Given the description of an element on the screen output the (x, y) to click on. 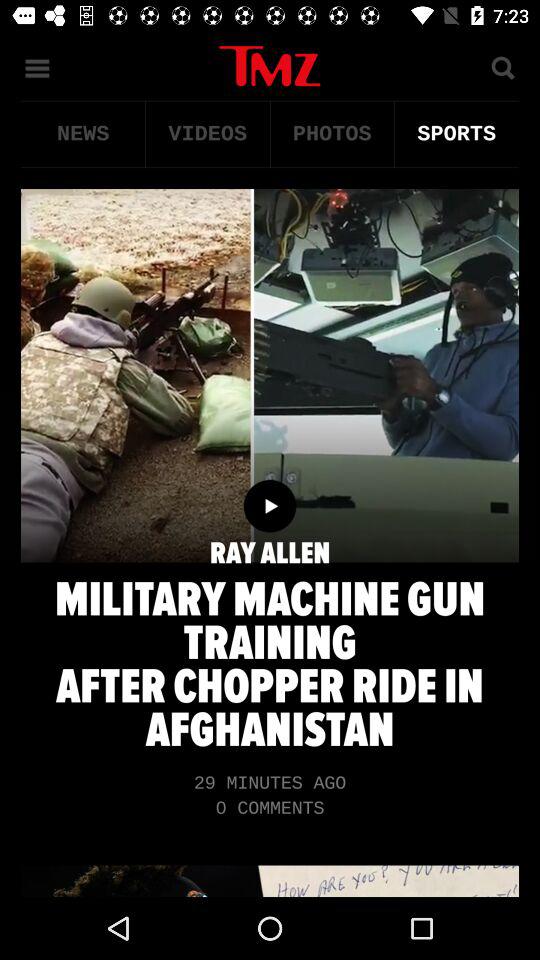
choose icon next to the photos app (207, 133)
